Given the description of an element on the screen output the (x, y) to click on. 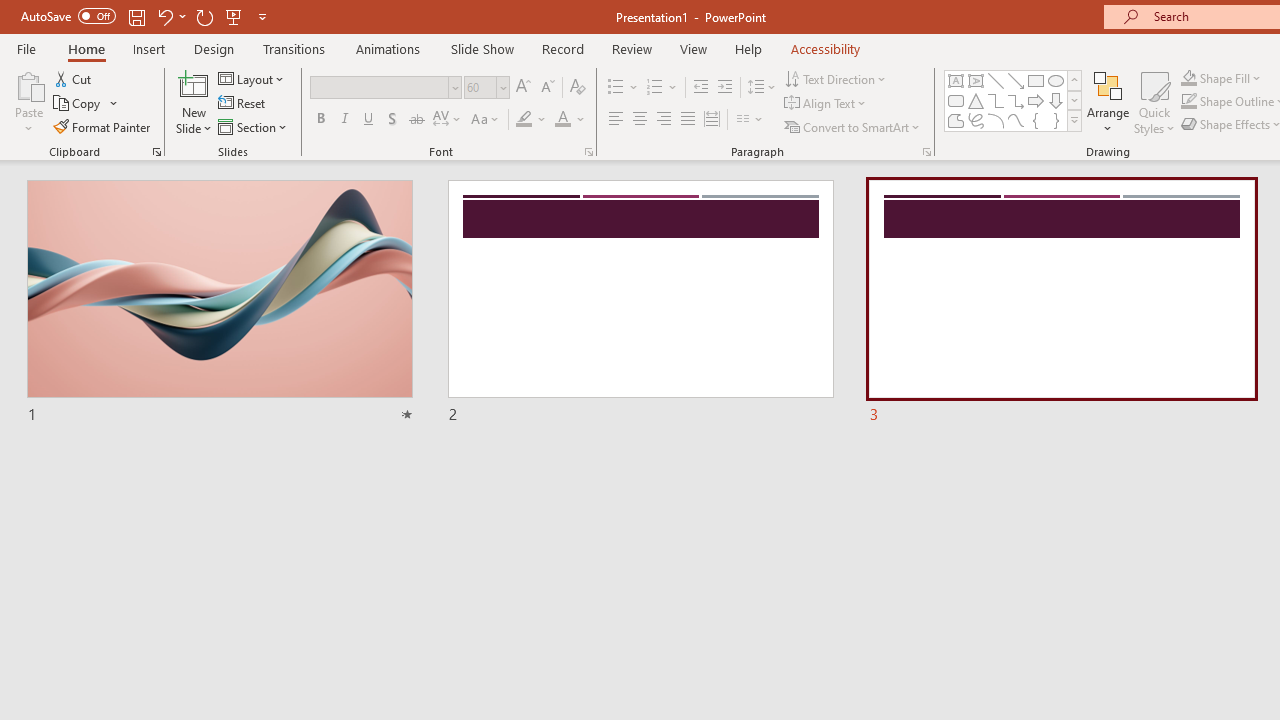
Right Brace (1055, 120)
Convert to SmartArt (853, 126)
Distributed (712, 119)
Underline (369, 119)
Columns (750, 119)
